Given the description of an element on the screen output the (x, y) to click on. 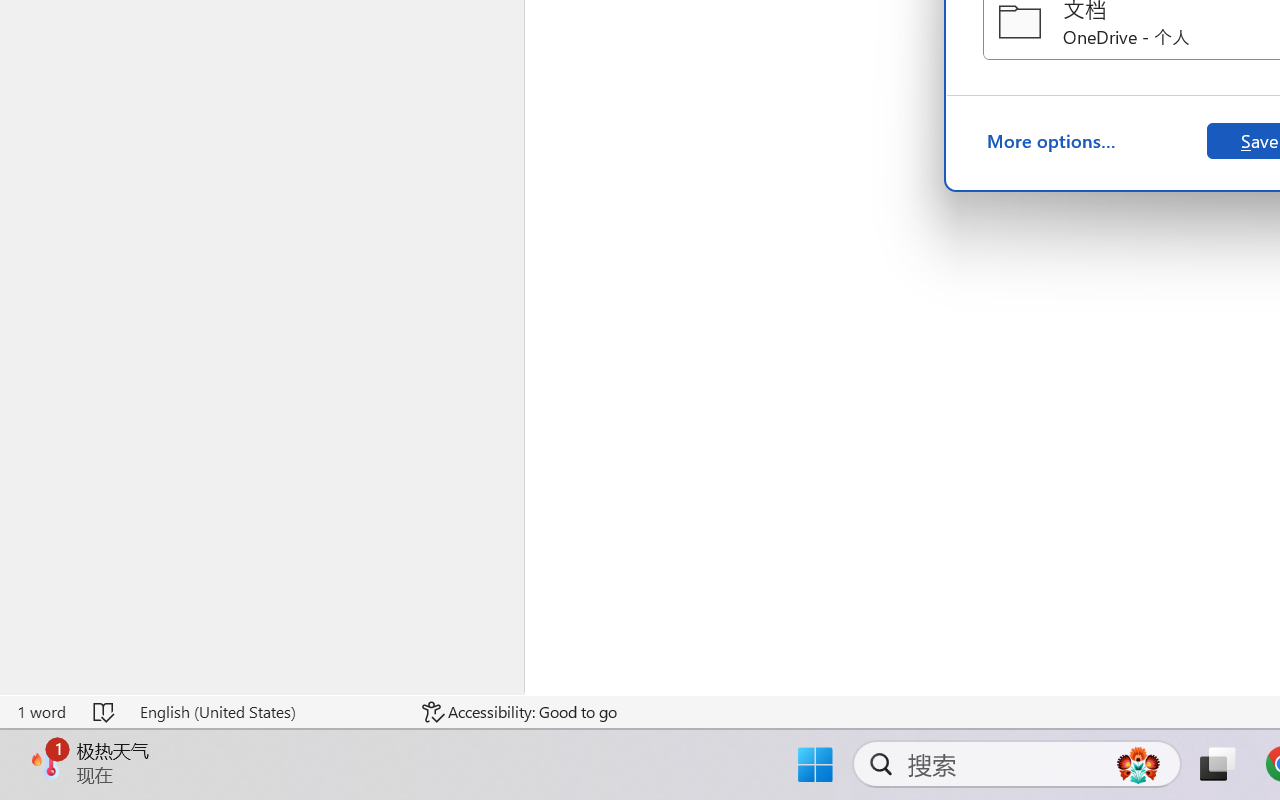
AutomationID: BadgeAnchorLargeTicker (46, 762)
Spelling and Grammar Check No Errors (105, 712)
Accessibility Checker Accessibility: Good to go (519, 712)
Word Count 1 word (41, 712)
Language English (United States) (267, 712)
